Given the description of an element on the screen output the (x, y) to click on. 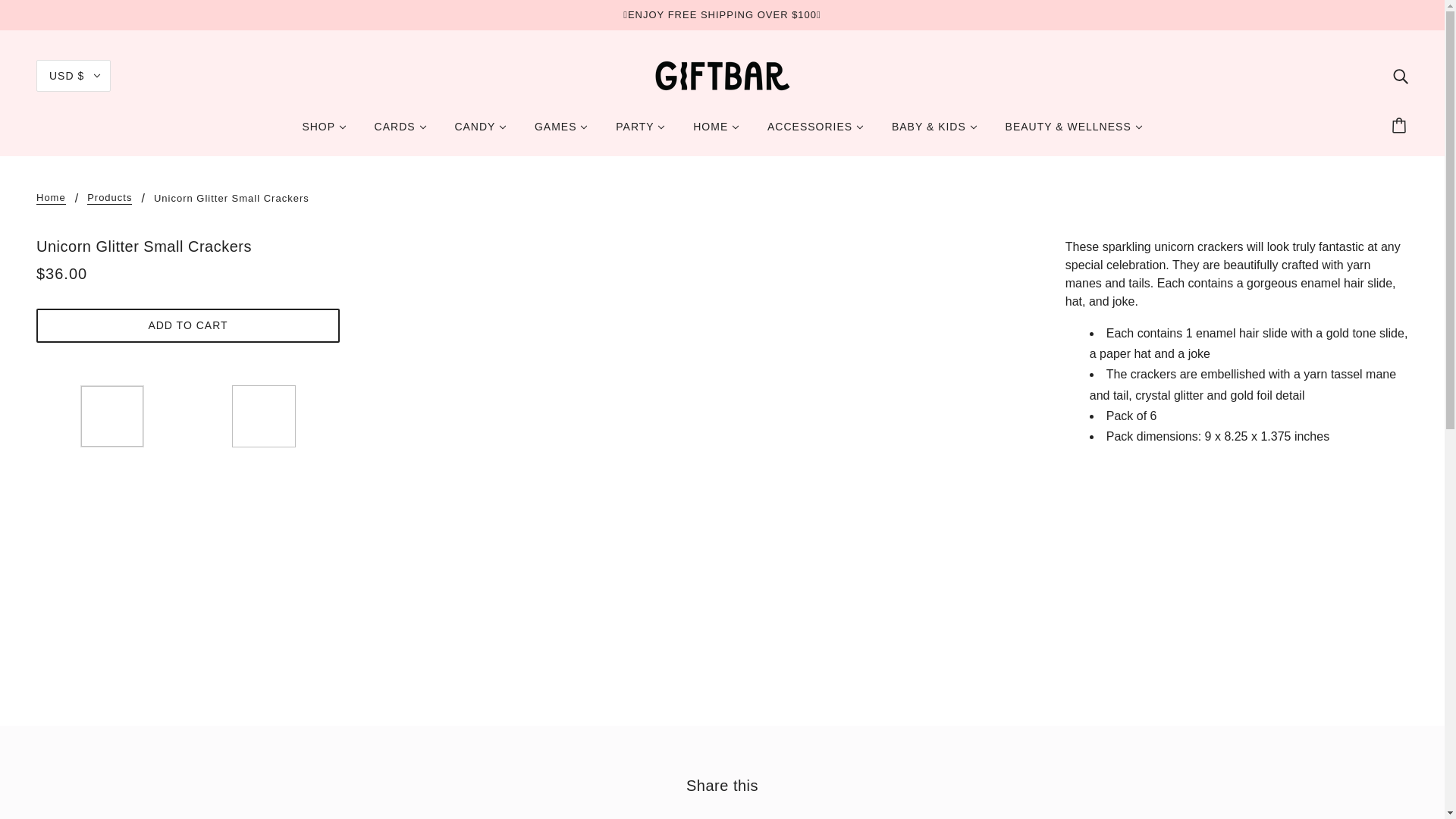
Giftbar (722, 74)
